Given the description of an element on the screen output the (x, y) to click on. 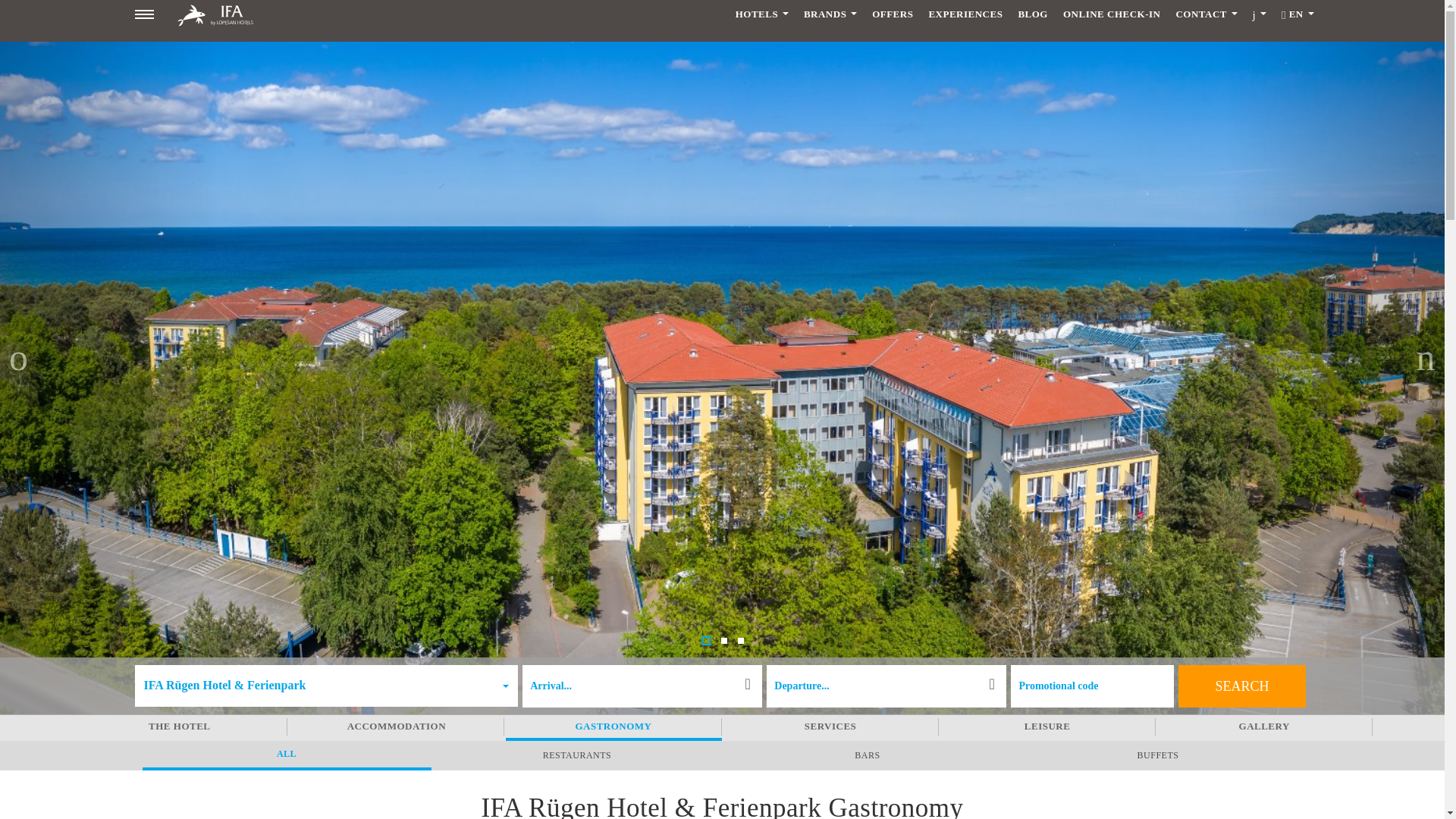
EXPERIENCES (965, 13)
BRANDS (830, 13)
OFFERS (892, 13)
ONLINE CHECK-IN (1112, 13)
EN (1298, 14)
CONTACT (1205, 13)
HOTELS (762, 13)
BLOG (1032, 13)
